Given the description of an element on the screen output the (x, y) to click on. 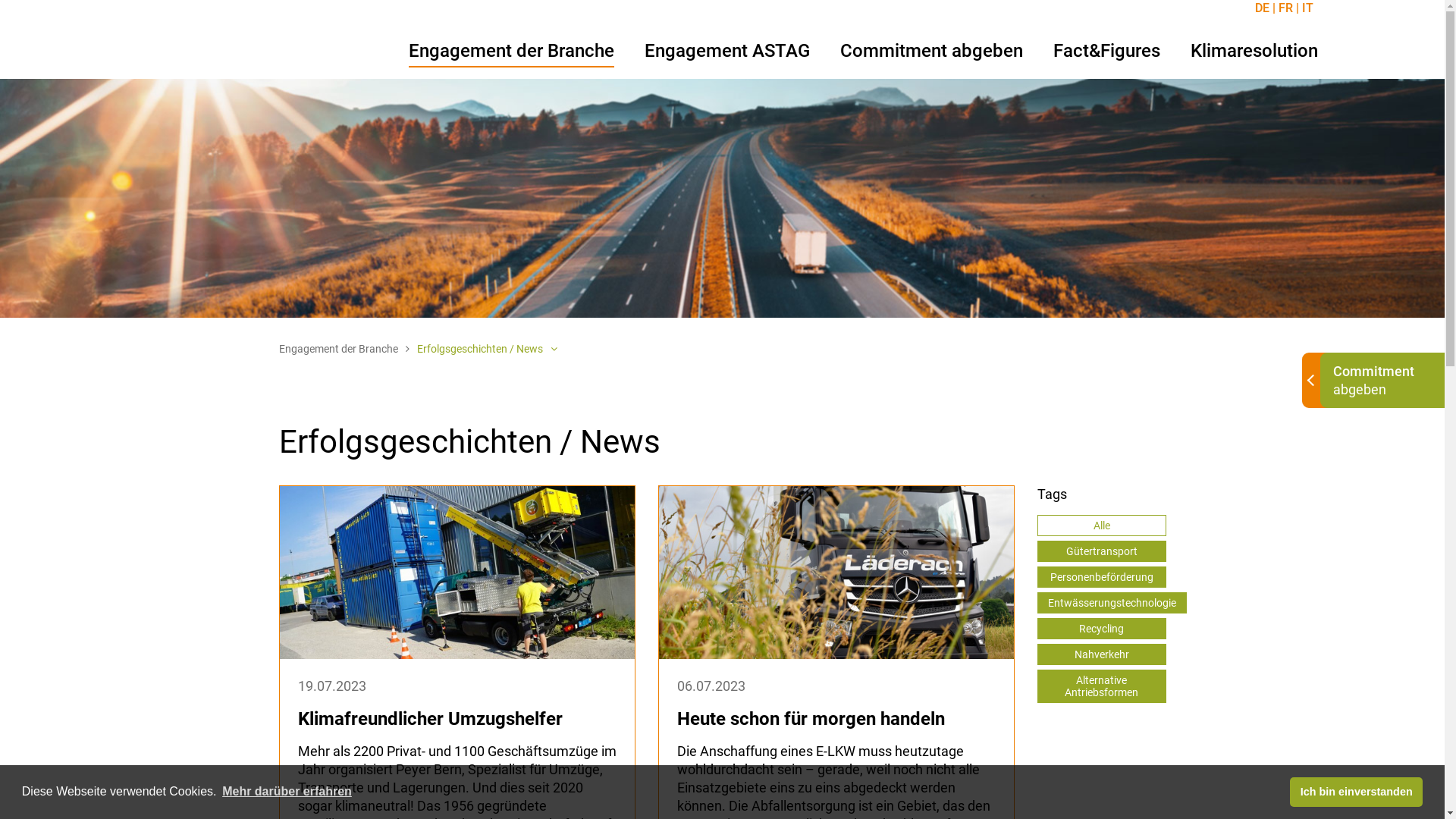
Nahverkehr Element type: text (1101, 654)
Alternative Antriebsformen Element type: text (1101, 685)
DE Element type: text (1264, 7)
Commitment abgeben Element type: text (1382, 379)
Engagement der Branche Element type: text (510, 52)
Engagement ASTAG Element type: text (726, 52)
IT Element type: text (1305, 7)
Klimaresolution Element type: text (1253, 52)
Erfolgsgeschichten / News Element type: text (487, 348)
Engagement der Branche Element type: text (344, 348)
Commitment abgeben Element type: text (931, 52)
Fact&Figures Element type: text (1105, 52)
Recycling Element type: text (1101, 628)
FR Element type: text (1287, 7)
Alle Element type: text (1101, 525)
Ich bin einverstanden Element type: text (1355, 791)
